Given the description of an element on the screen output the (x, y) to click on. 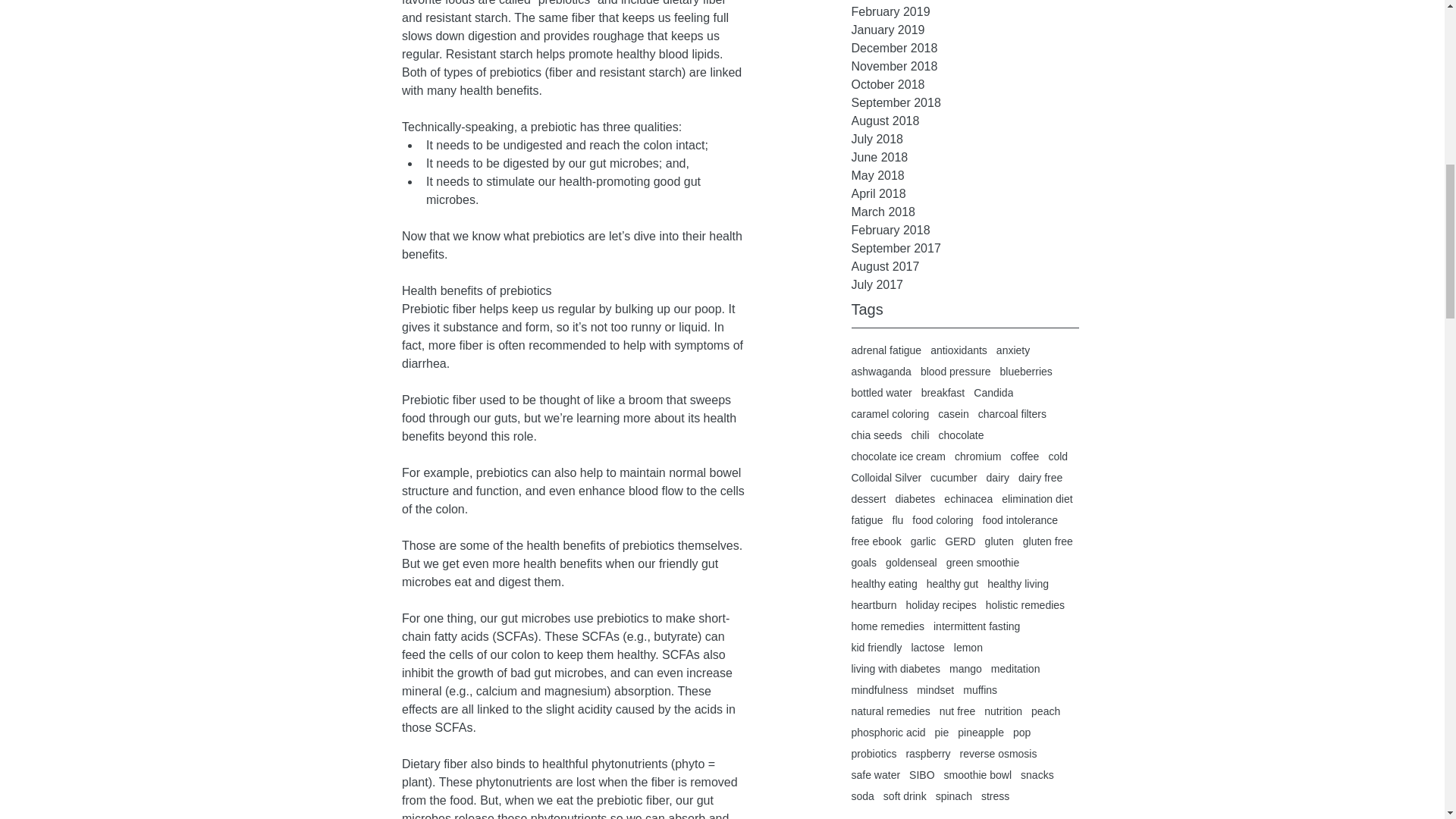
June 2018 (964, 157)
September 2017 (964, 248)
March 2018 (964, 212)
September 2018 (964, 103)
August 2017 (964, 266)
April 2018 (964, 194)
July 2017 (964, 285)
July 2018 (964, 139)
adrenal fatigue (885, 349)
January 2019 (964, 30)
February 2018 (964, 230)
November 2018 (964, 66)
February 2019 (964, 12)
May 2018 (964, 176)
August 2018 (964, 121)
